Given the description of an element on the screen output the (x, y) to click on. 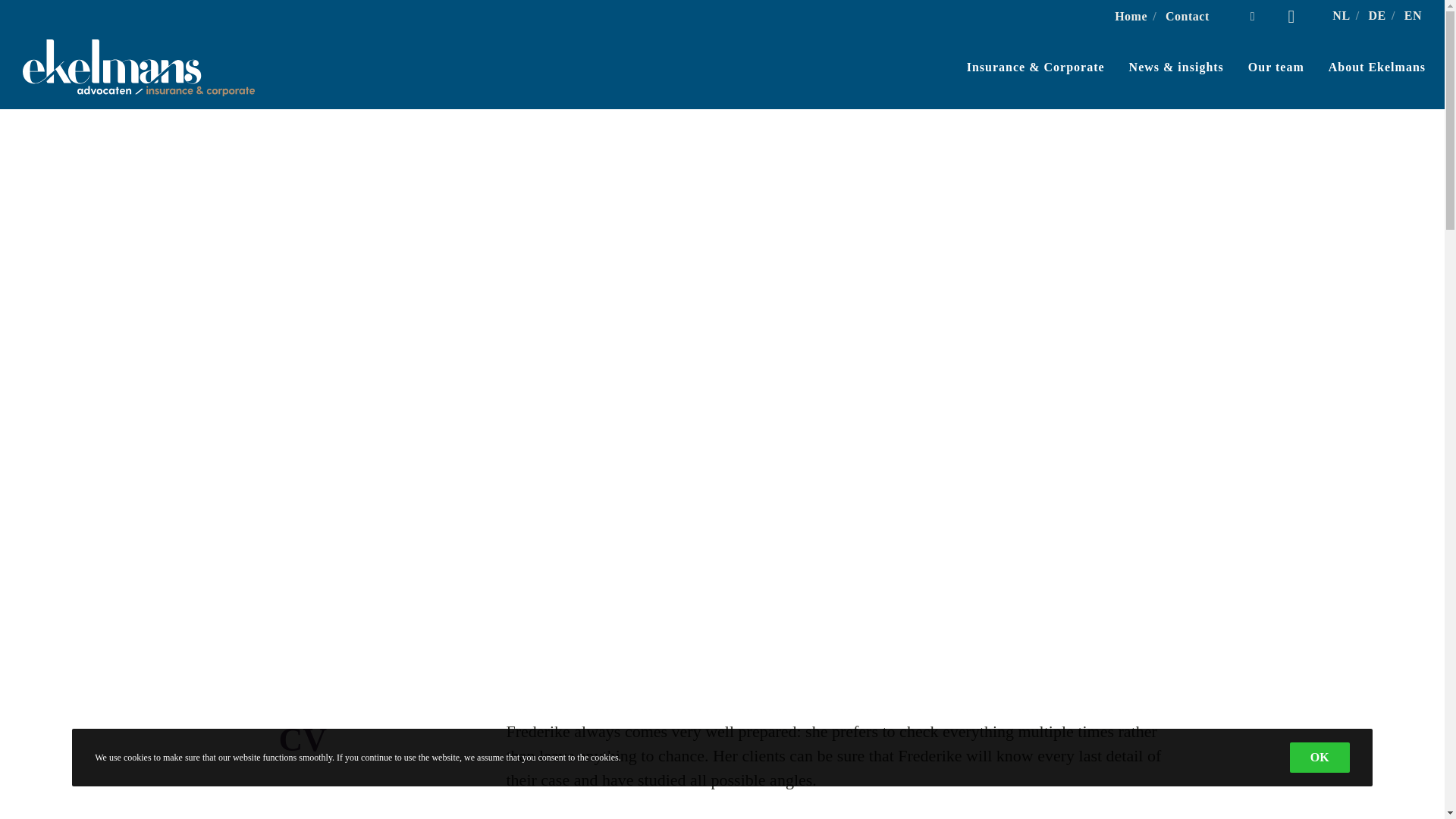
DE (1377, 15)
Our team (1264, 66)
About Ekelmans (1364, 66)
NL (1340, 15)
Home (1131, 15)
EN (1413, 15)
Contact (1187, 15)
